Given the description of an element on the screen output the (x, y) to click on. 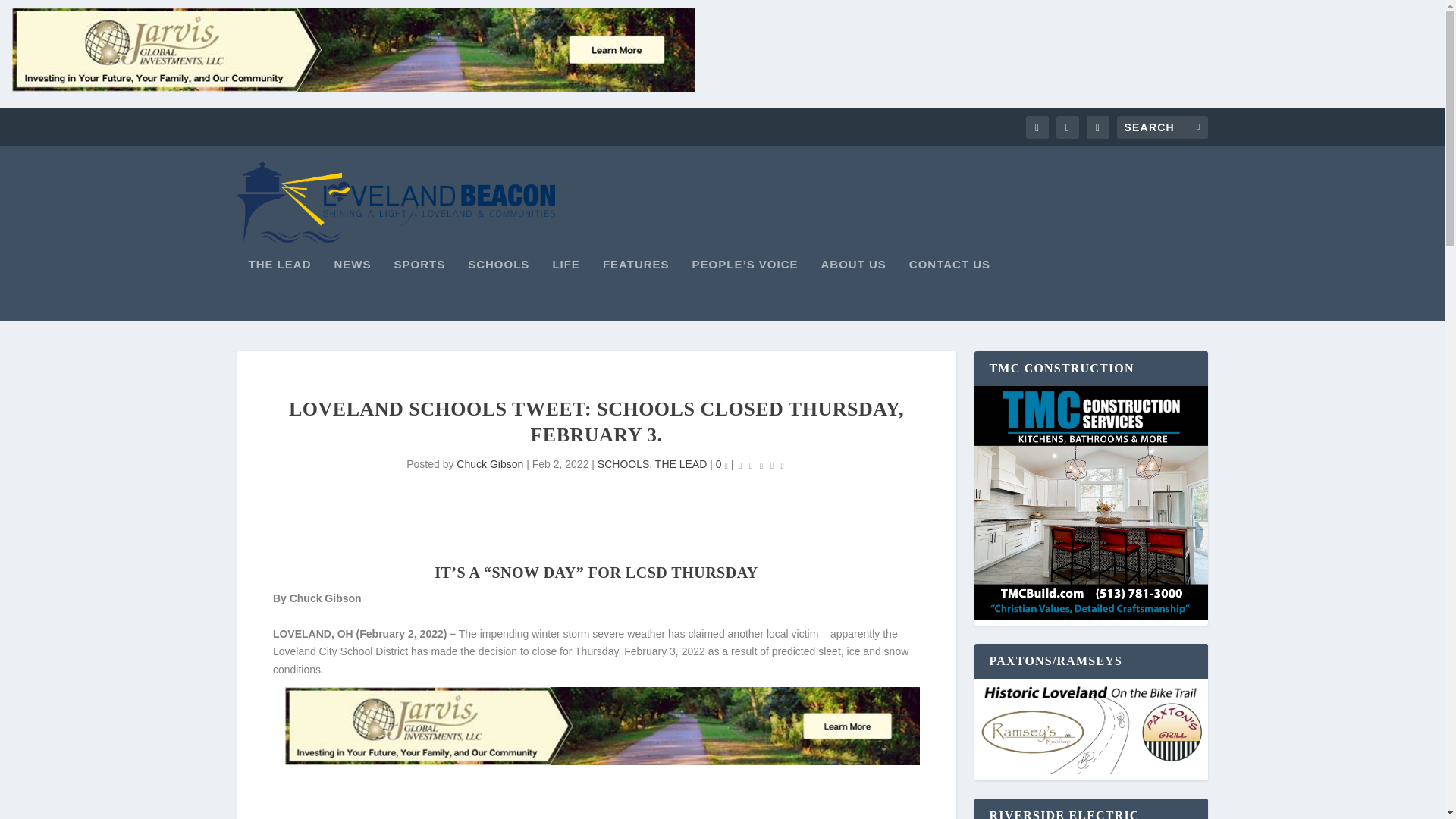
Rating: 0.00 (761, 465)
THE LEAD (279, 289)
SCHOOLS (622, 463)
SCHOOLS (498, 289)
Posts by Chuck Gibson (489, 463)
Chuck Gibson (489, 463)
THE LEAD (680, 463)
0 (722, 463)
FEATURES (635, 289)
Search for: (1161, 127)
